Given the description of an element on the screen output the (x, y) to click on. 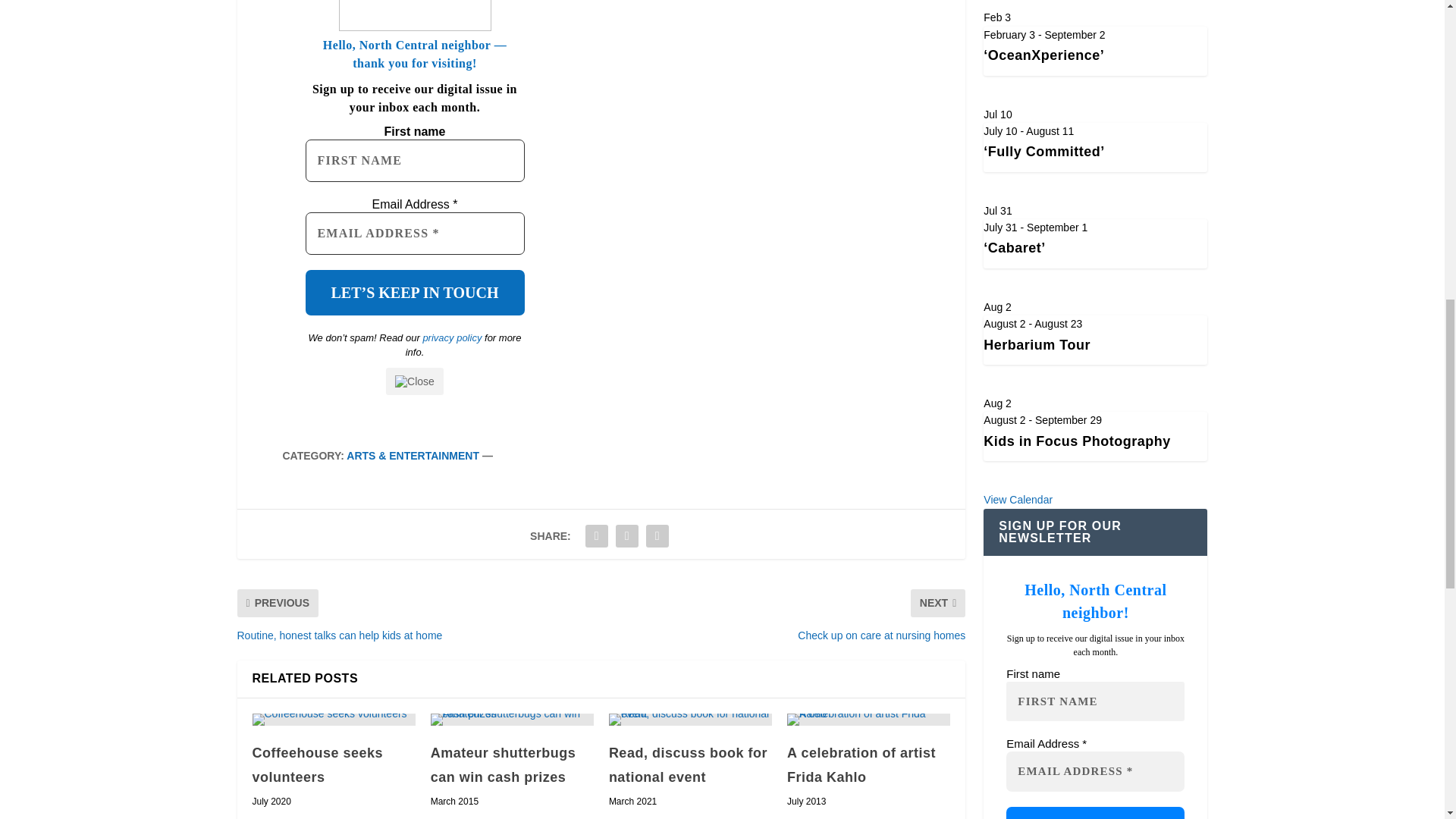
A celebration of artist Frida Kahlo (868, 719)
Coffeehouse seeks volunteers (316, 764)
First name (414, 160)
Email Address (414, 233)
Coffeehouse seeks volunteers (332, 719)
Sign me up! (1095, 812)
Share "Music Works delivers lessons online" via Facebook (595, 535)
Read, discuss book for national event (689, 719)
Share "Music Works delivers lessons online" via Twitter (626, 535)
Amateur shutterbugs can win cash prizes (512, 719)
